Given the description of an element on the screen output the (x, y) to click on. 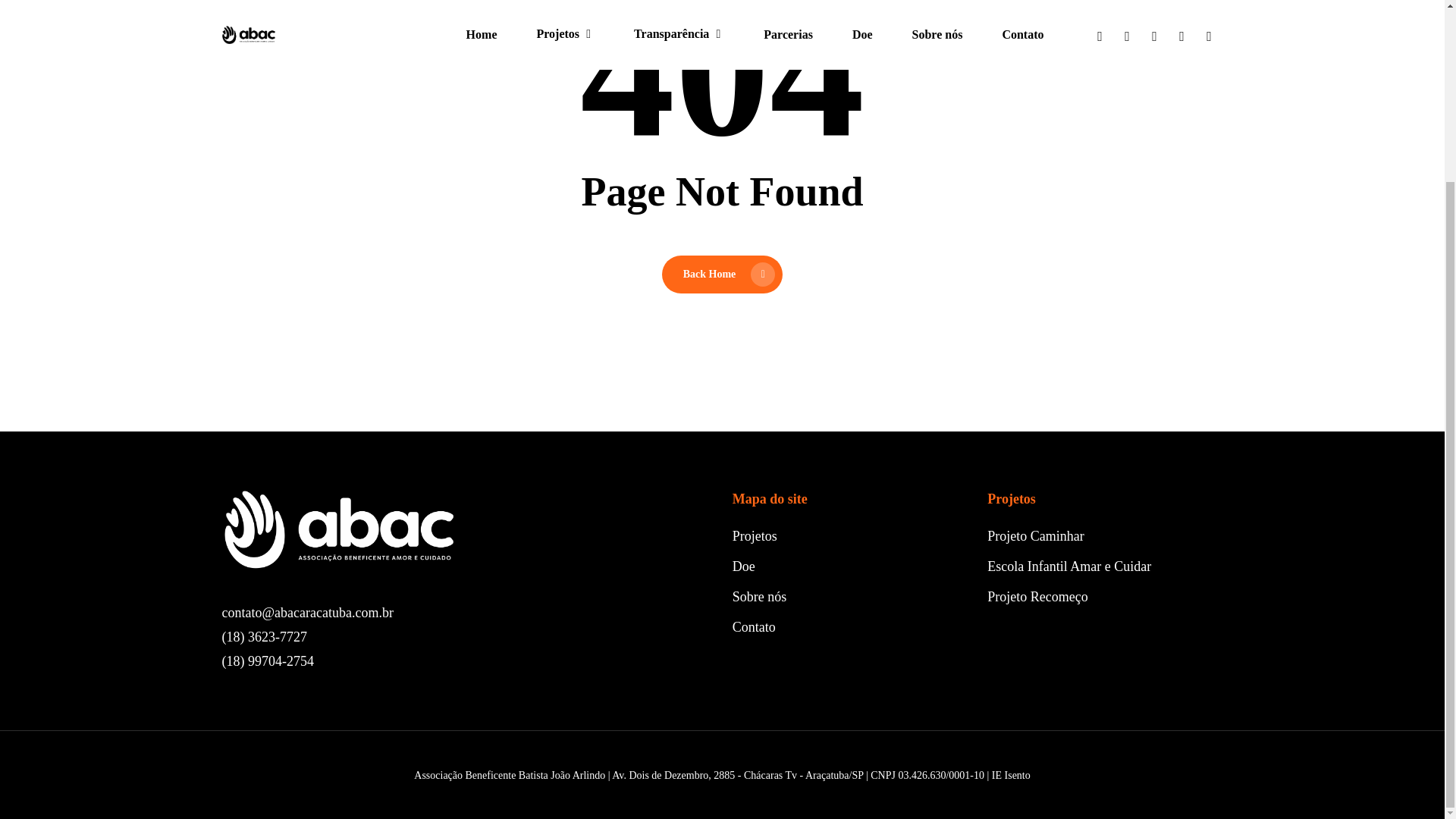
Back Home (722, 274)
Projeto Caminhar (1035, 535)
Projetos (754, 535)
Contato (754, 626)
Doe (743, 566)
Escola Infantil Amar e Cuidar (1069, 566)
